Given the description of an element on the screen output the (x, y) to click on. 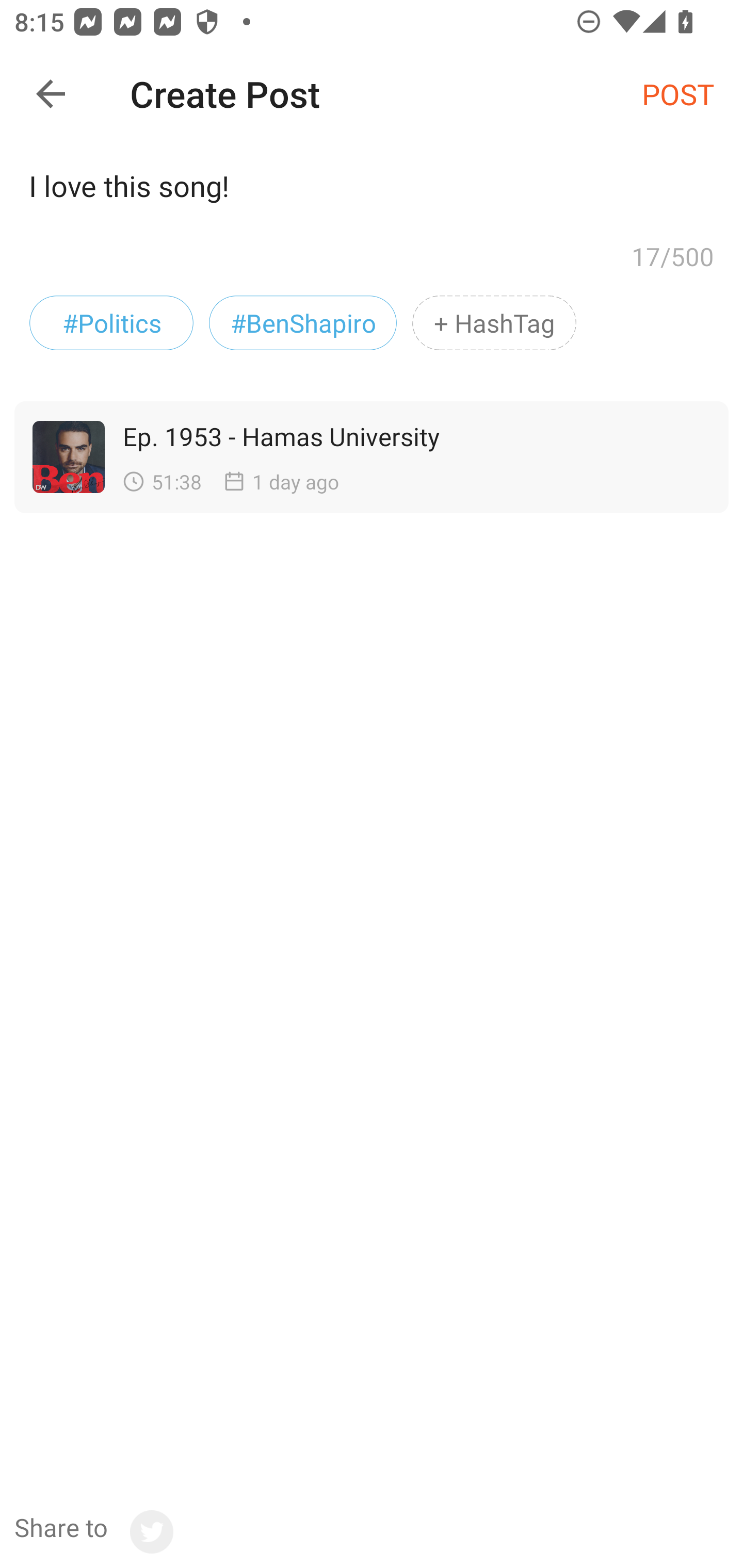
Navigate up (50, 93)
POST (677, 92)
I love this song! (371, 191)
#Politics (110, 322)
#BenShapiro (302, 322)
+ HashTag (493, 322)
Ep. 1953 - Hamas University 1 51:38  1 day ago (362, 456)
Share to (93, 1531)
